Given the description of an element on the screen output the (x, y) to click on. 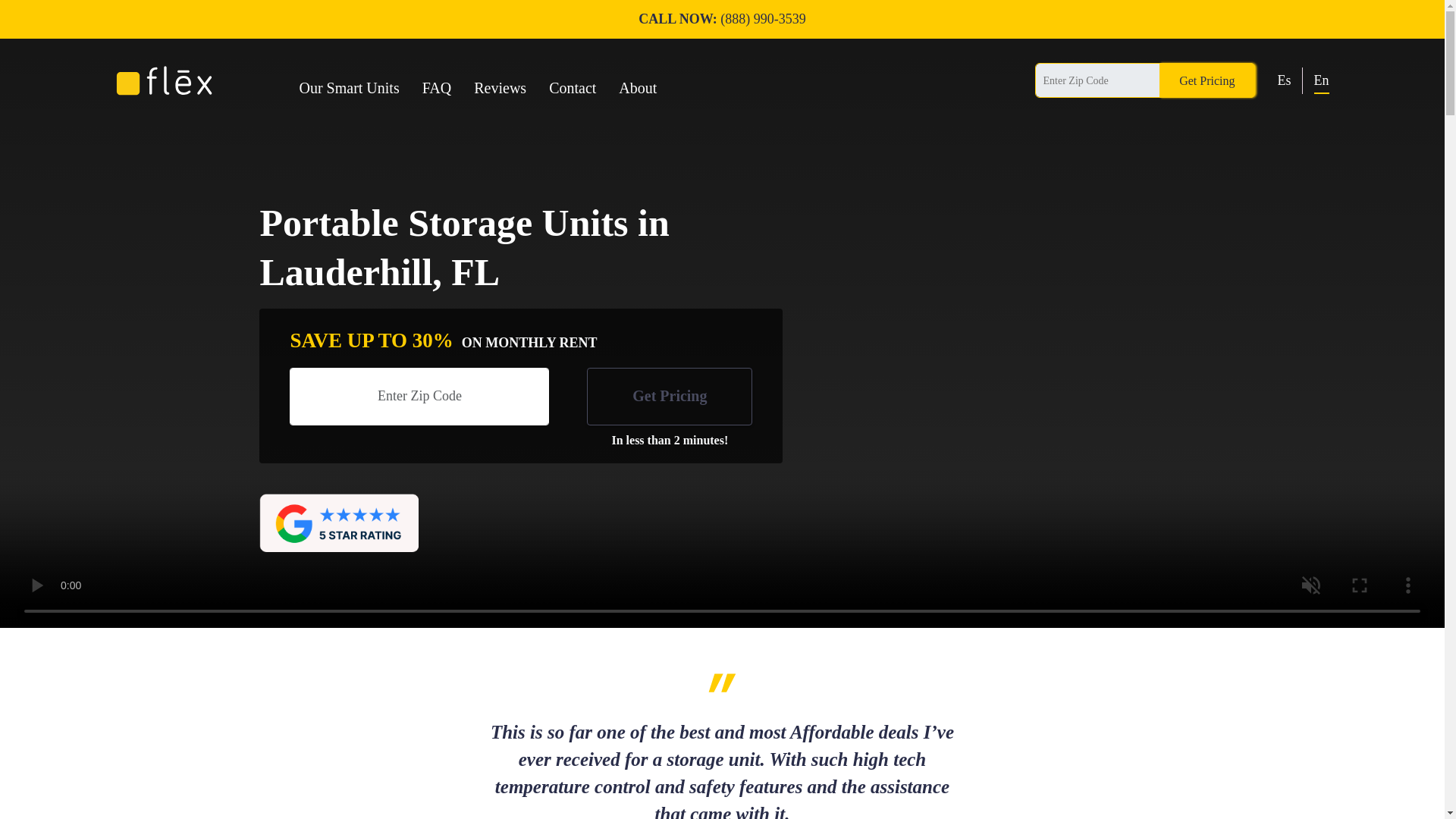
Our Smart Units (348, 80)
Get Pricing (1205, 80)
Get Pricing (669, 396)
Reviews (499, 80)
